Given the description of an element on the screen output the (x, y) to click on. 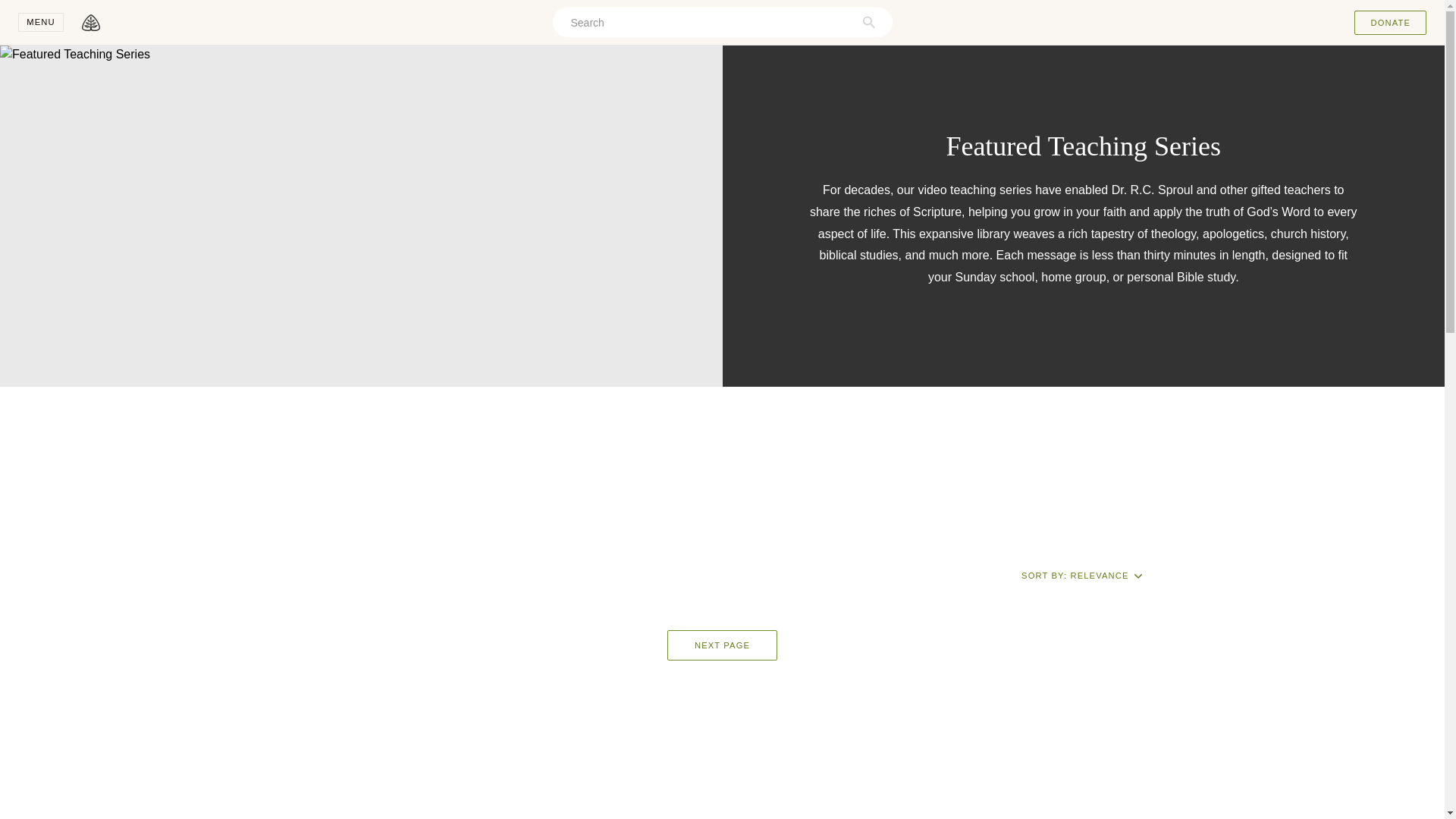
MENU (40, 22)
